Given the description of an element on the screen output the (x, y) to click on. 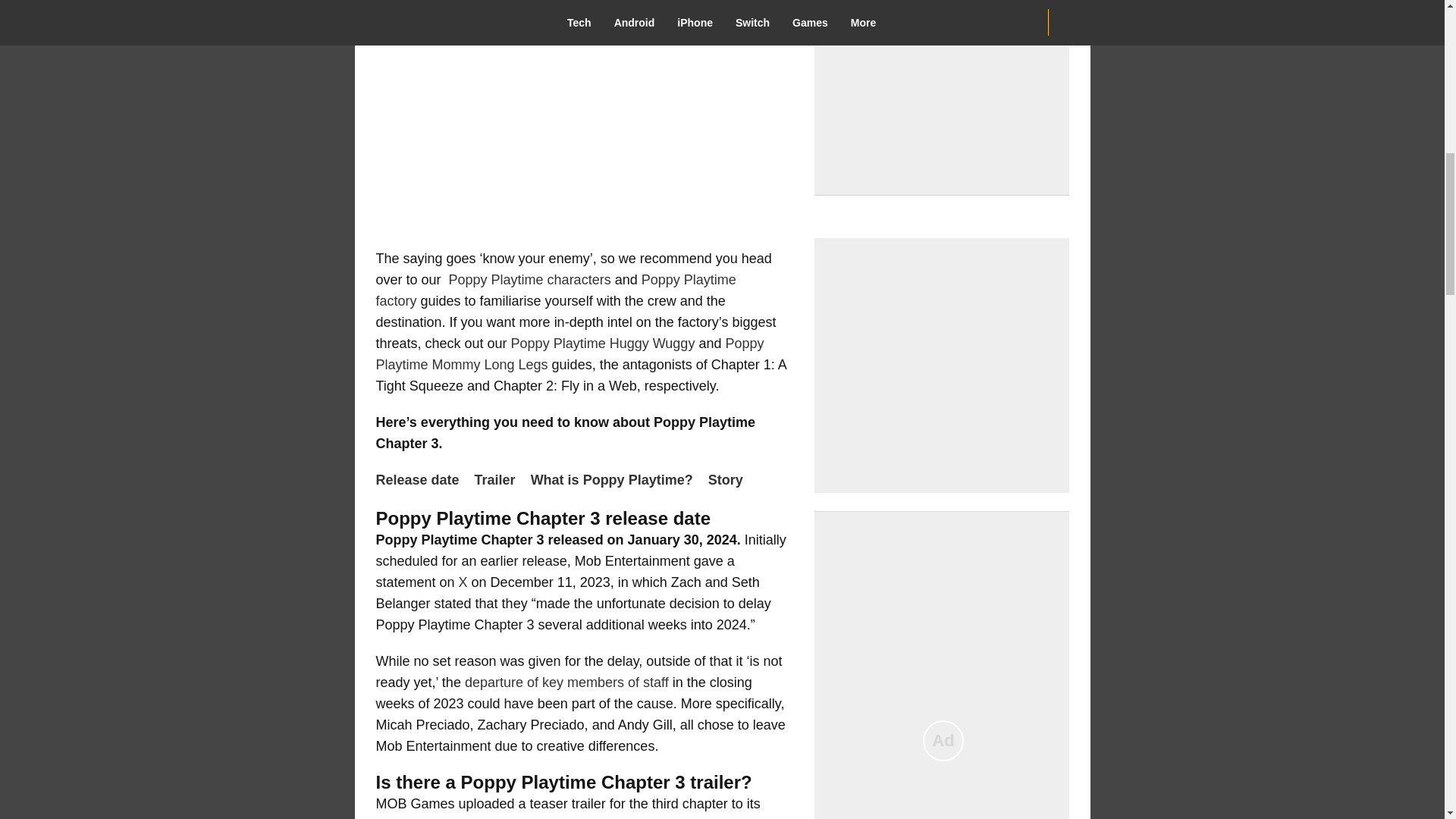
Story (729, 480)
Poppy Playtime Huggy Wuggy (603, 343)
Poppy Playtime characters (529, 279)
Poppy Playtime Mommy Long Legs (569, 353)
Trailer (498, 480)
Release date (421, 480)
What is Poppy Playtime? (615, 480)
Poppy Playtime factory (555, 289)
